Given the description of an element on the screen output the (x, y) to click on. 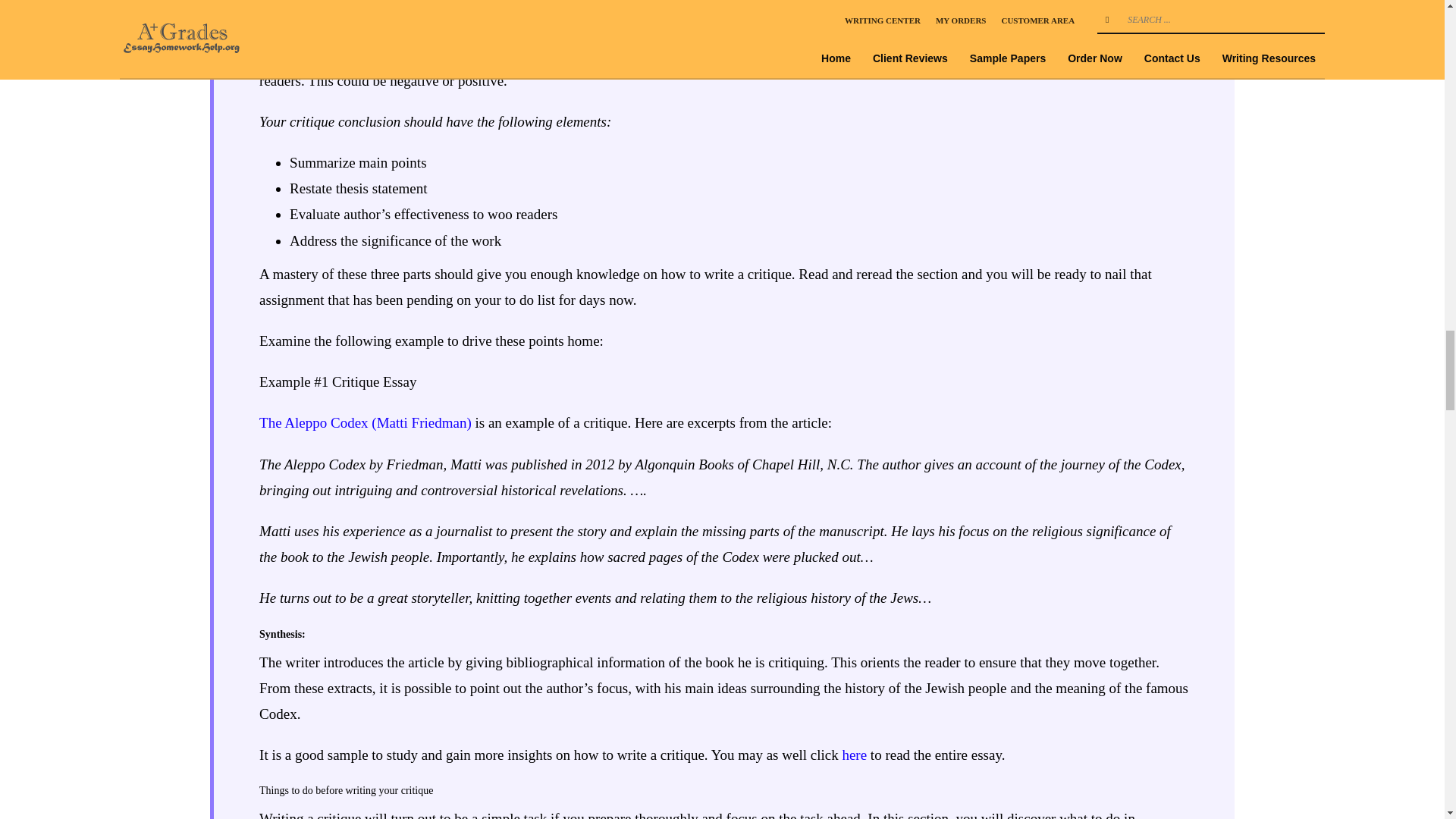
here (853, 754)
